Given the description of an element on the screen output the (x, y) to click on. 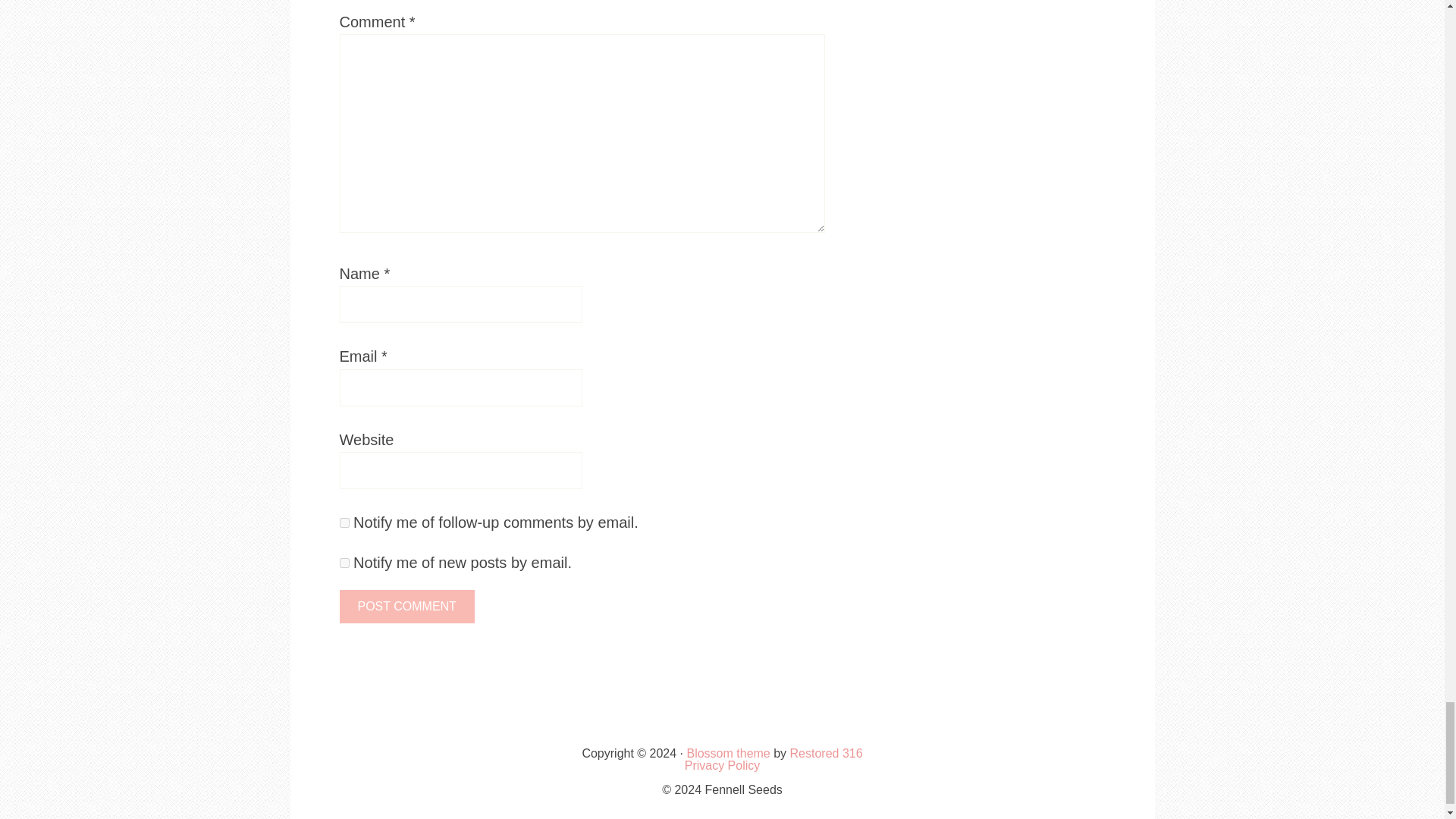
subscribe (344, 562)
Post Comment (406, 606)
subscribe (344, 522)
